Given the description of an element on the screen output the (x, y) to click on. 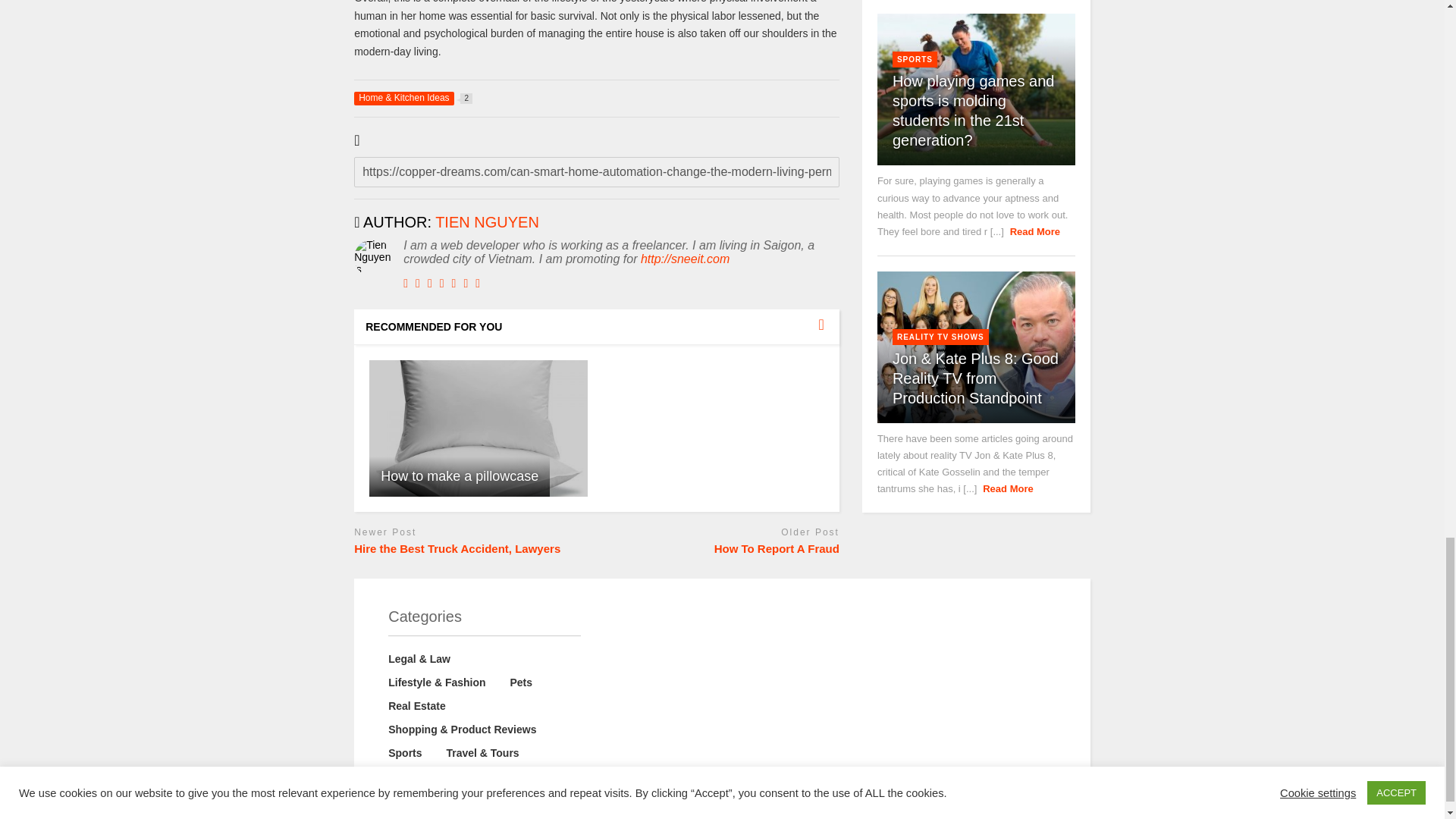
Click to read (478, 428)
author profile (486, 221)
How to make a pillowcase (478, 428)
